Given the description of an element on the screen output the (x, y) to click on. 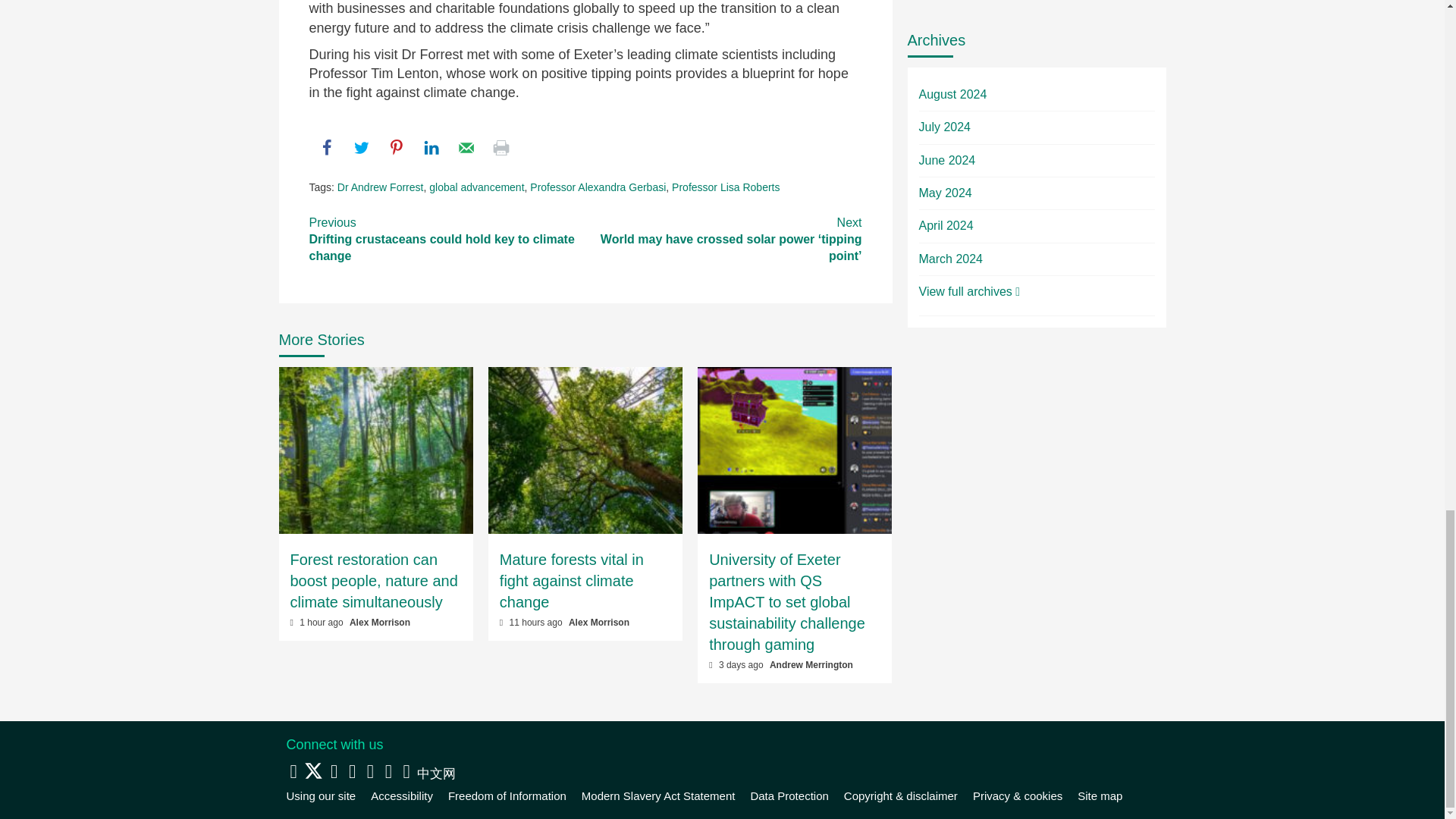
Send over email (465, 147)
Print this webpage (500, 147)
Share on Twitter (360, 147)
Share on Facebook (325, 147)
Save to Pinterest (395, 147)
Share on LinkedIn (430, 147)
